Given the description of an element on the screen output the (x, y) to click on. 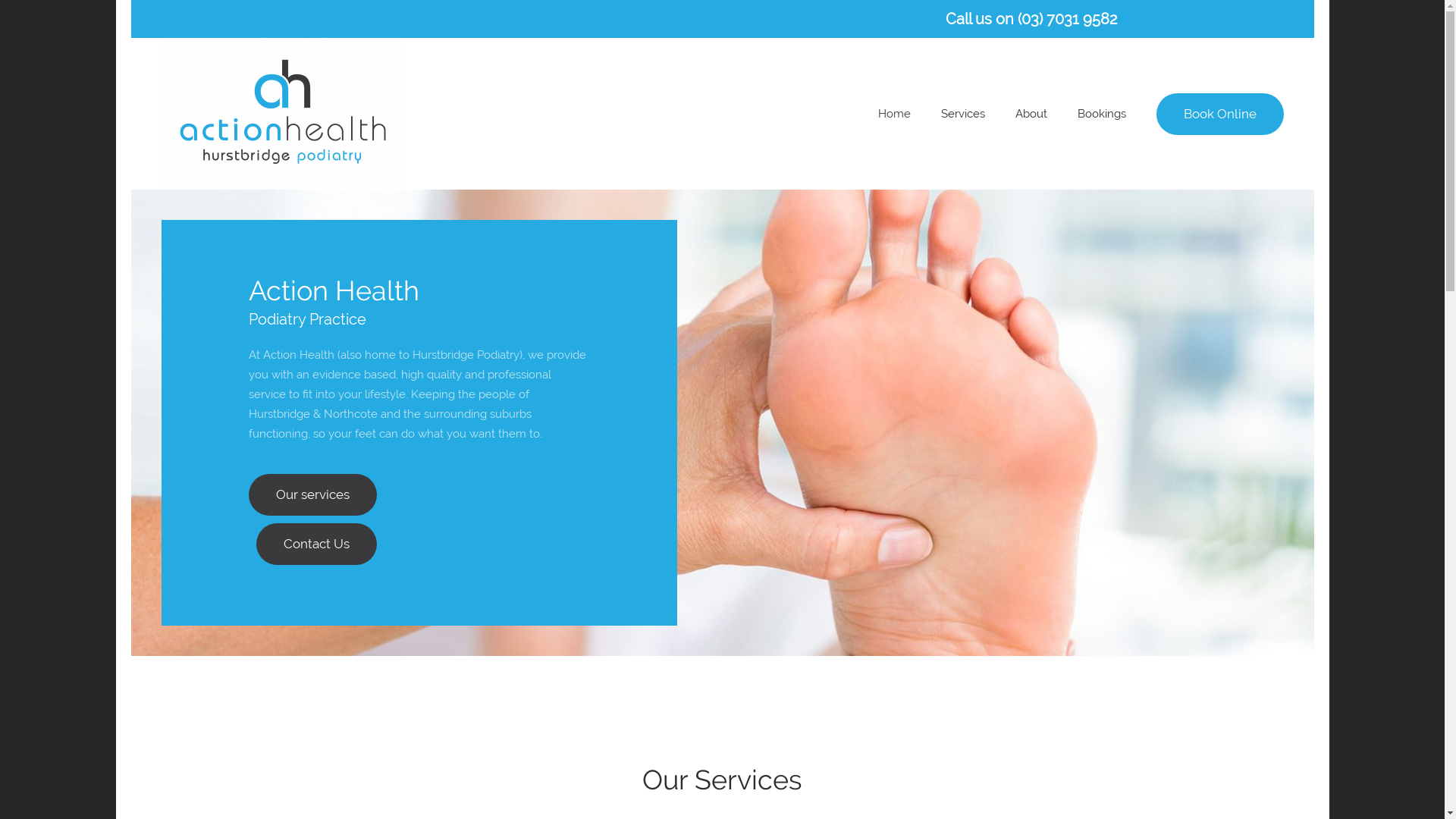
Our services Element type: text (312, 494)
Contact Us Element type: text (316, 543)
Services Element type: text (962, 113)
Book Online Element type: text (1219, 113)
About Element type: text (1030, 113)
Bookings Element type: text (1100, 113)
Home Element type: text (893, 113)
